Given the description of an element on the screen output the (x, y) to click on. 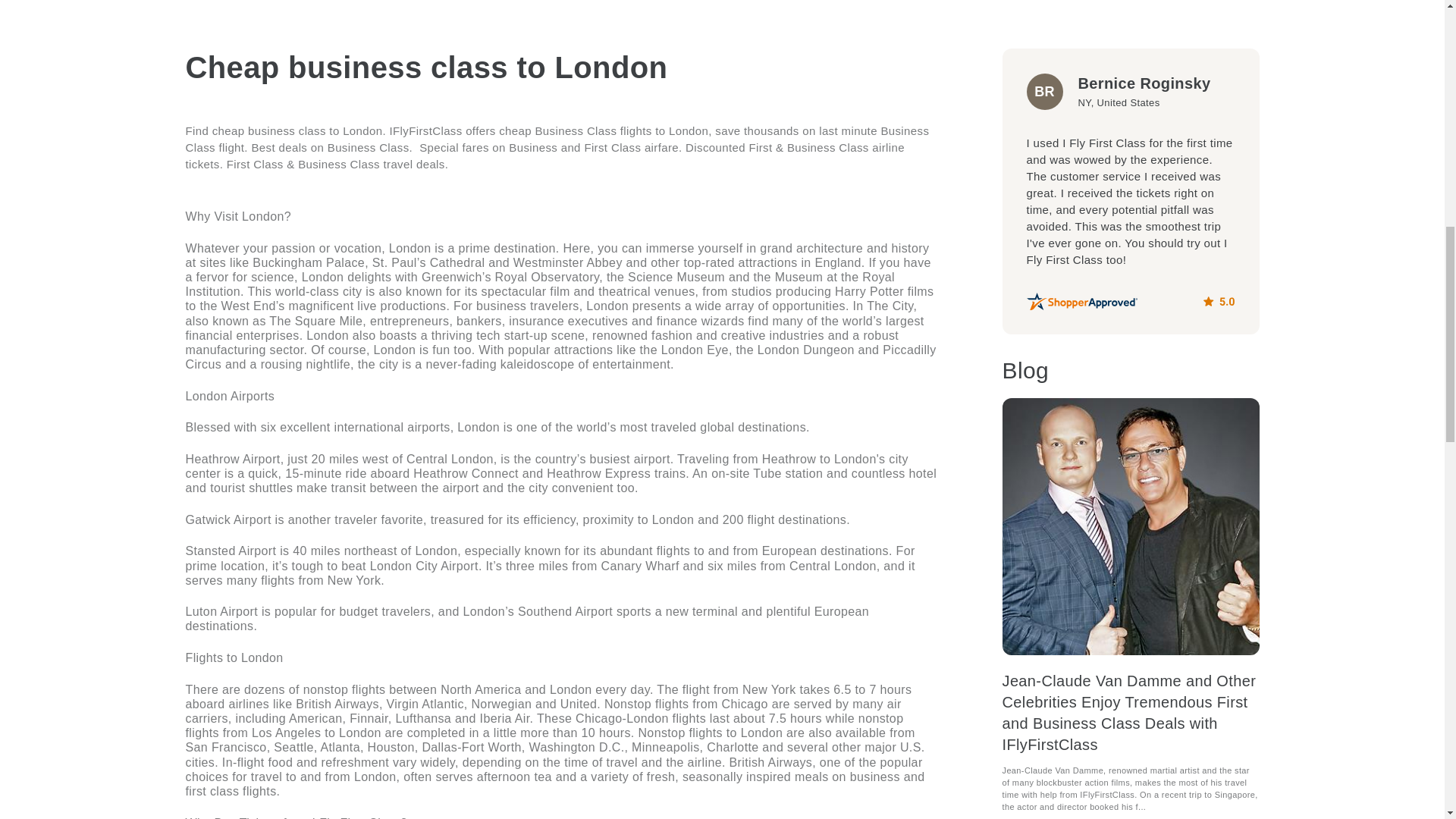
Jean-Claude Van Damme (1131, 526)
